Given the description of an element on the screen output the (x, y) to click on. 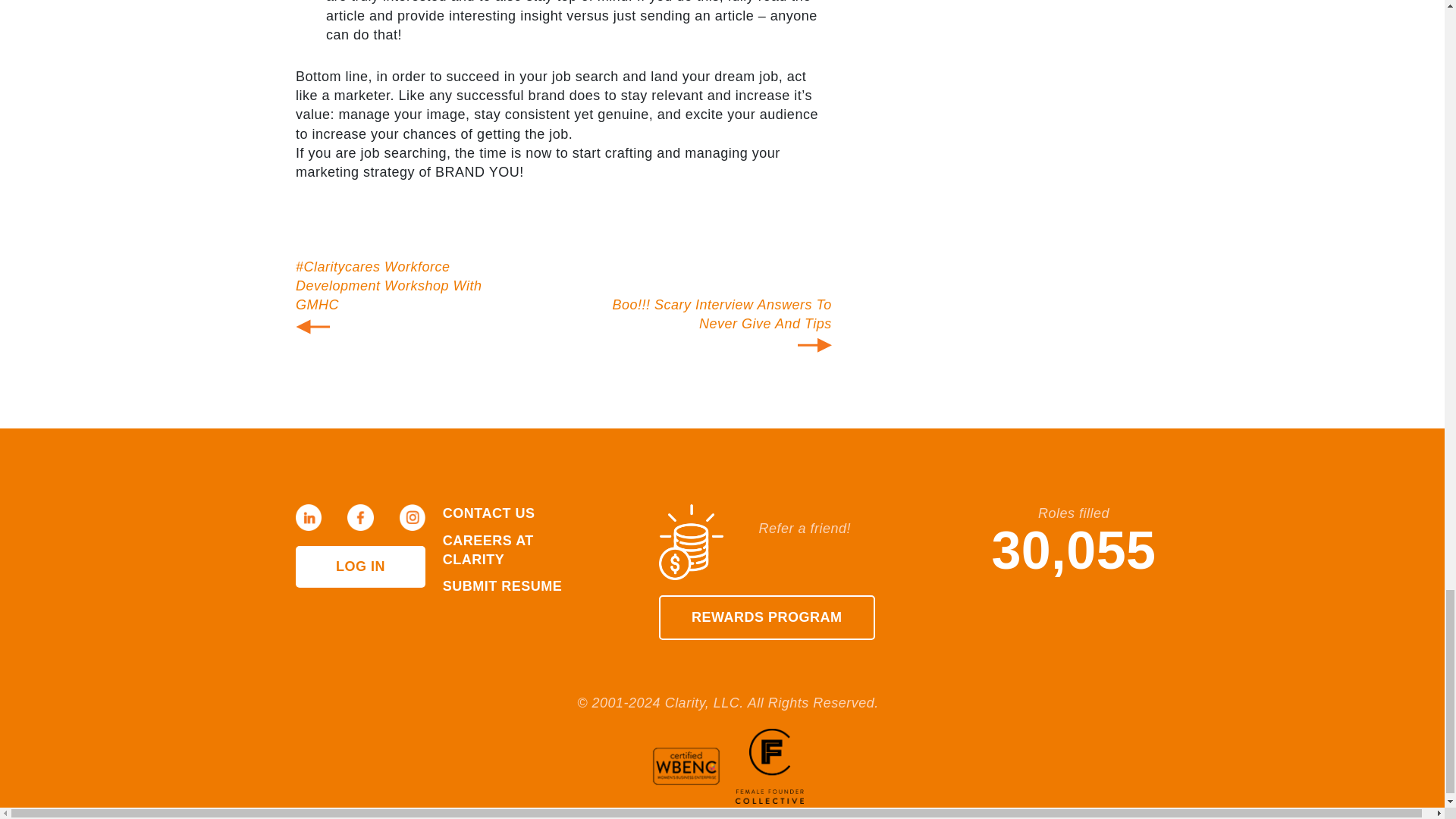
REWARDS PROGRAM (767, 617)
SUBMIT RESUME (502, 585)
Boo!!! Scary Interview Answers To Never Give And Tips (721, 314)
CONTACT US (488, 513)
LOG IN (360, 567)
CAREERS AT CLARITY (488, 550)
